Given the description of an element on the screen output the (x, y) to click on. 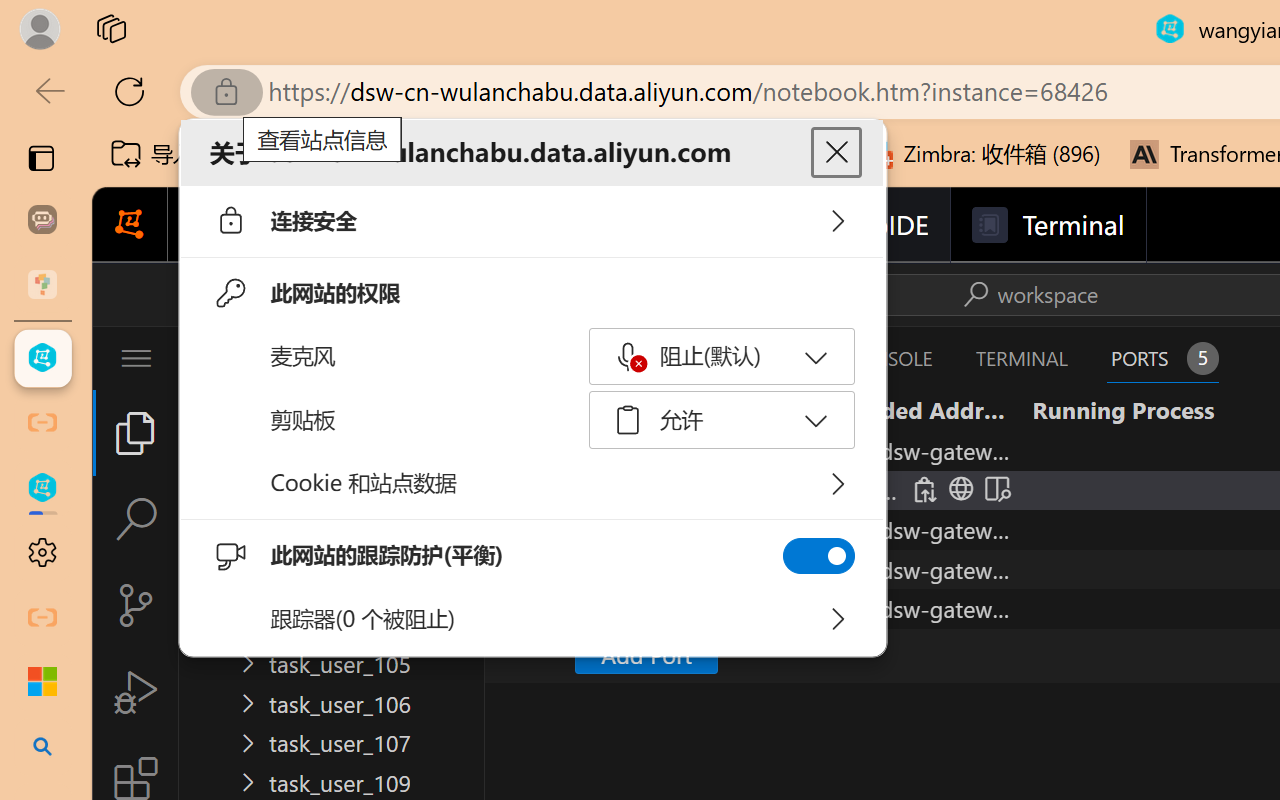
Microsoft security help and learning (42, 681)
Open in Browser (958, 489)
wangyian_webcrawler - DSW (42, 487)
Terminal (1046, 225)
